Given the description of an element on the screen output the (x, y) to click on. 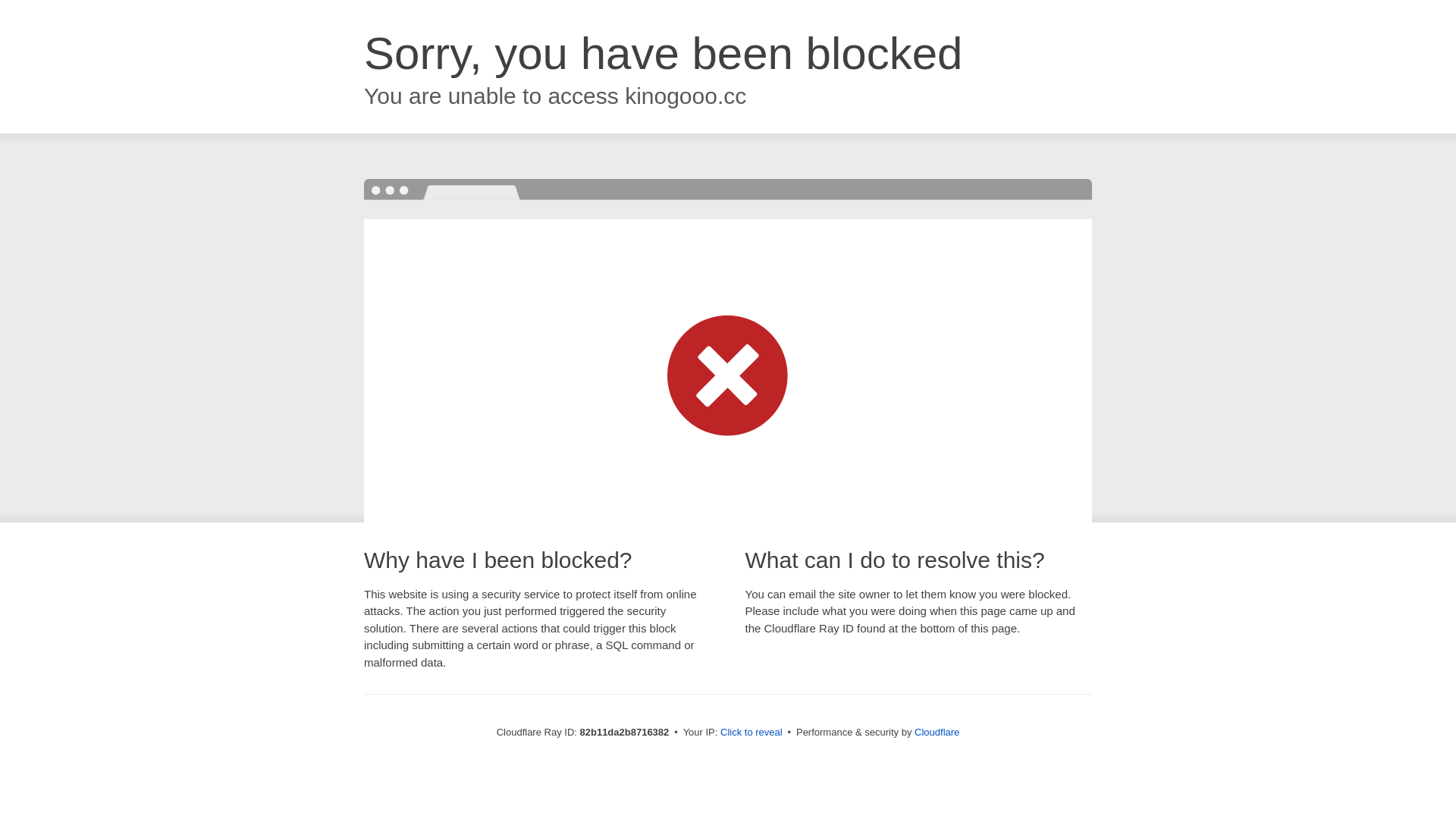
Click to reveal Element type: text (751, 732)
Cloudflare Element type: text (936, 731)
